Given the description of an element on the screen output the (x, y) to click on. 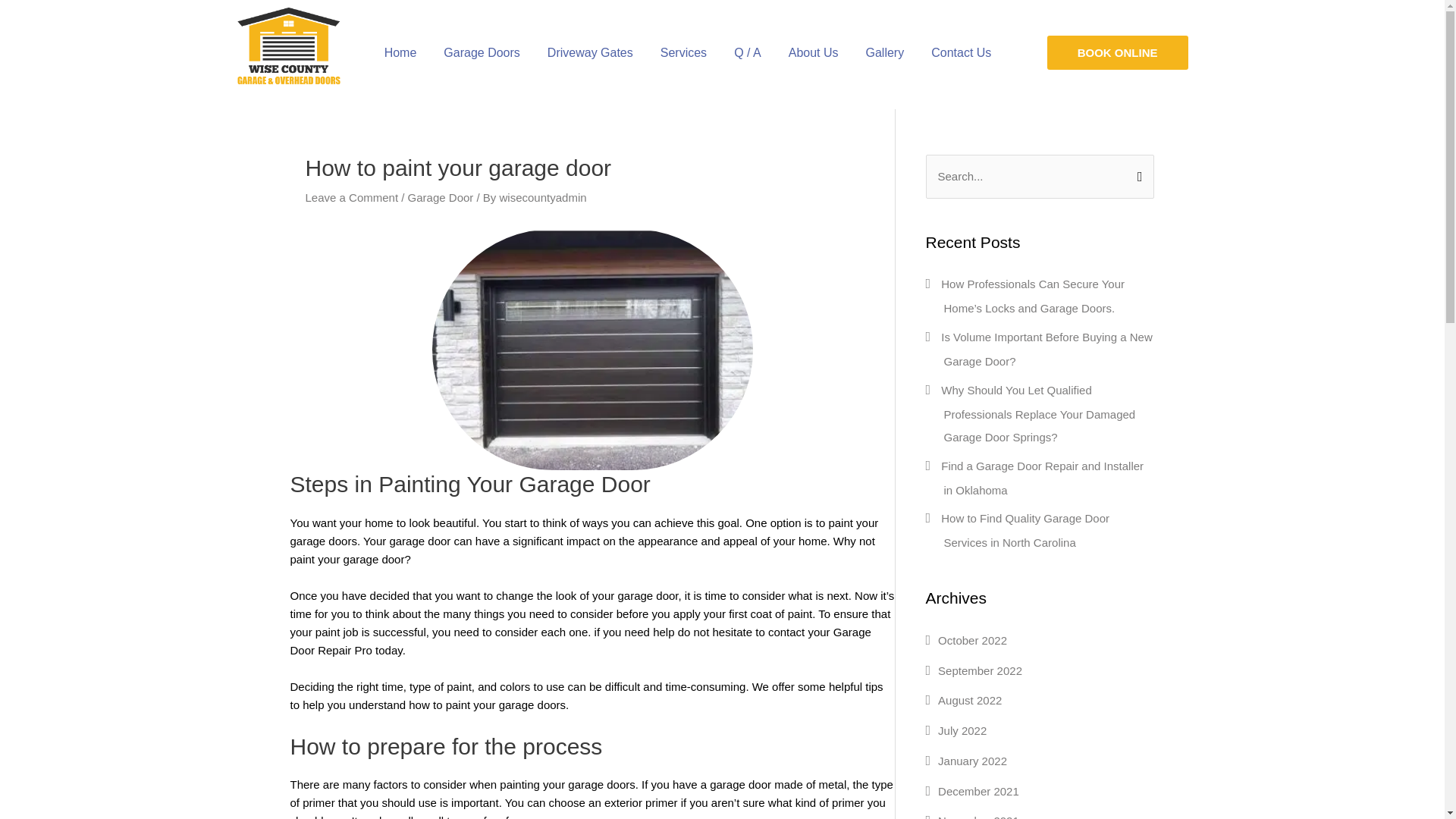
About Us (812, 53)
Garage Doors (481, 53)
Search (1136, 169)
Gallery (884, 53)
Home (400, 53)
Services (683, 53)
Driveway Gates (590, 53)
Search (1136, 169)
View all posts by wisecountyadmin (542, 196)
Contact Us (960, 53)
